Given the description of an element on the screen output the (x, y) to click on. 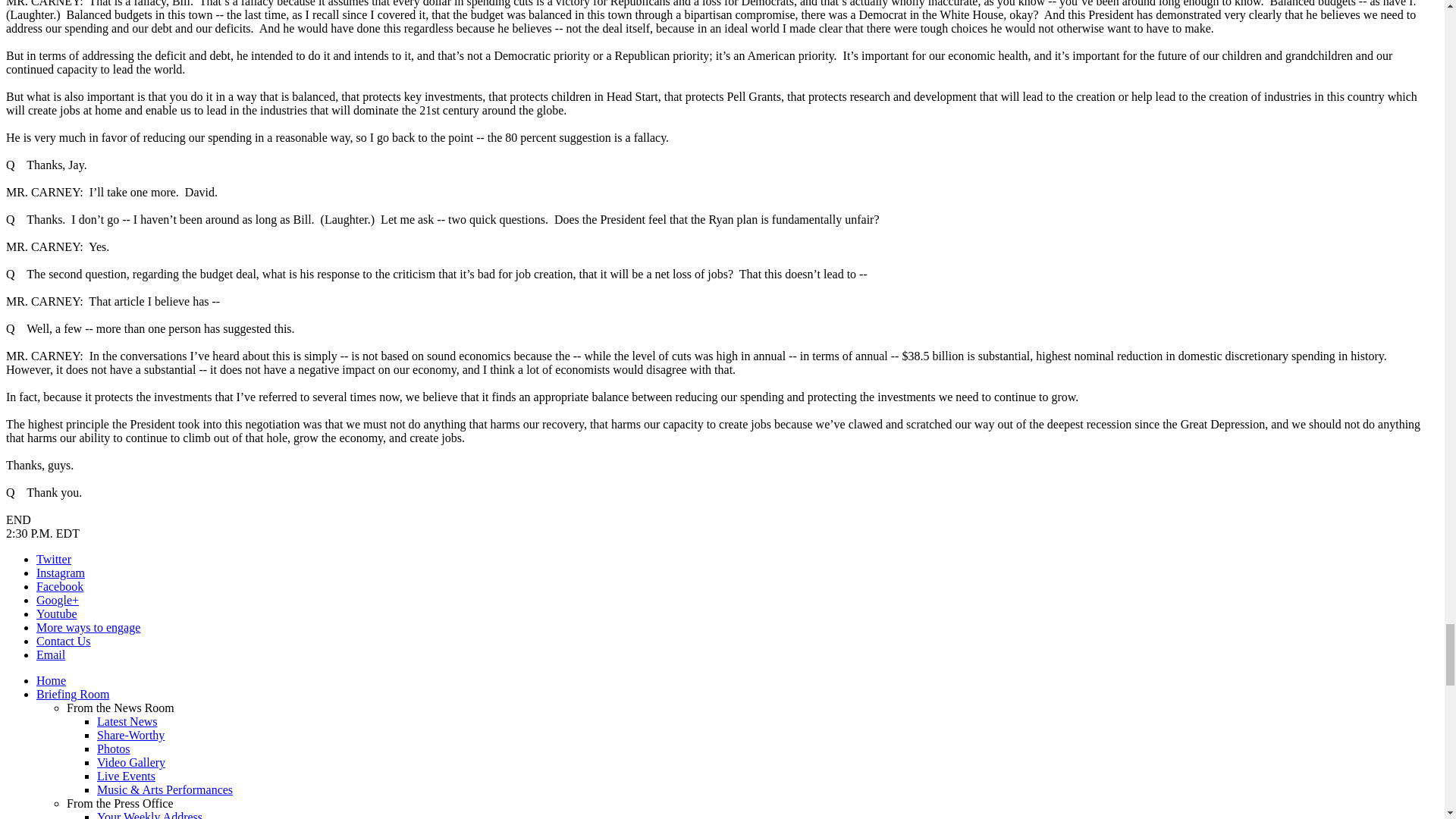
Like the Whitehouse on Facebook. (59, 585)
More ways to engage with the Whitehouse. (87, 626)
Visit The Whitehouse Channel on Youtube. (56, 613)
Follow the Whitehouse on Twitter. (53, 558)
Check out the most popular infographics and videos (130, 735)
Email the Whitehouse. (50, 654)
Read the latest blog posts from 1600 Pennsylvania Ave (127, 721)
Contact the Whitehouse. (63, 640)
See the Whitehouse on Instagram. (60, 572)
Watch behind-the-scenes videos and more (131, 762)
View the photo of the day and other galleries (114, 748)
